Given the description of an element on the screen output the (x, y) to click on. 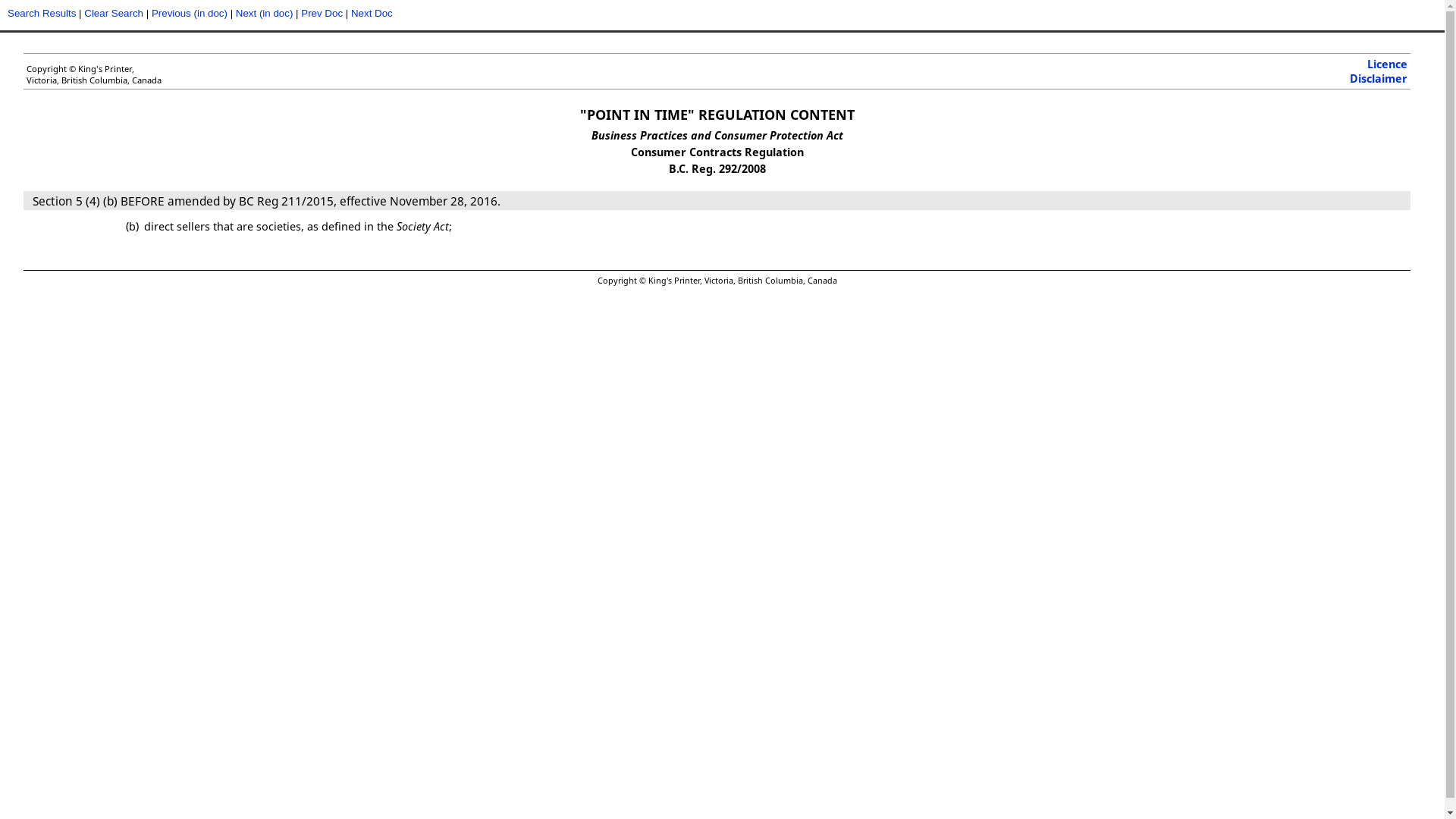
Next Doc Element type: text (371, 12)
Disclaimer Element type: text (1378, 78)
Prev Doc Element type: text (321, 12)
Previous (in doc) Element type: text (189, 12)
Next (in doc) Element type: text (264, 12)
Licence Element type: text (1387, 63)
  Element type: text (30, 201)
Search Results Element type: text (41, 12)
Clear Search Element type: text (113, 12)
